Given the description of an element on the screen output the (x, y) to click on. 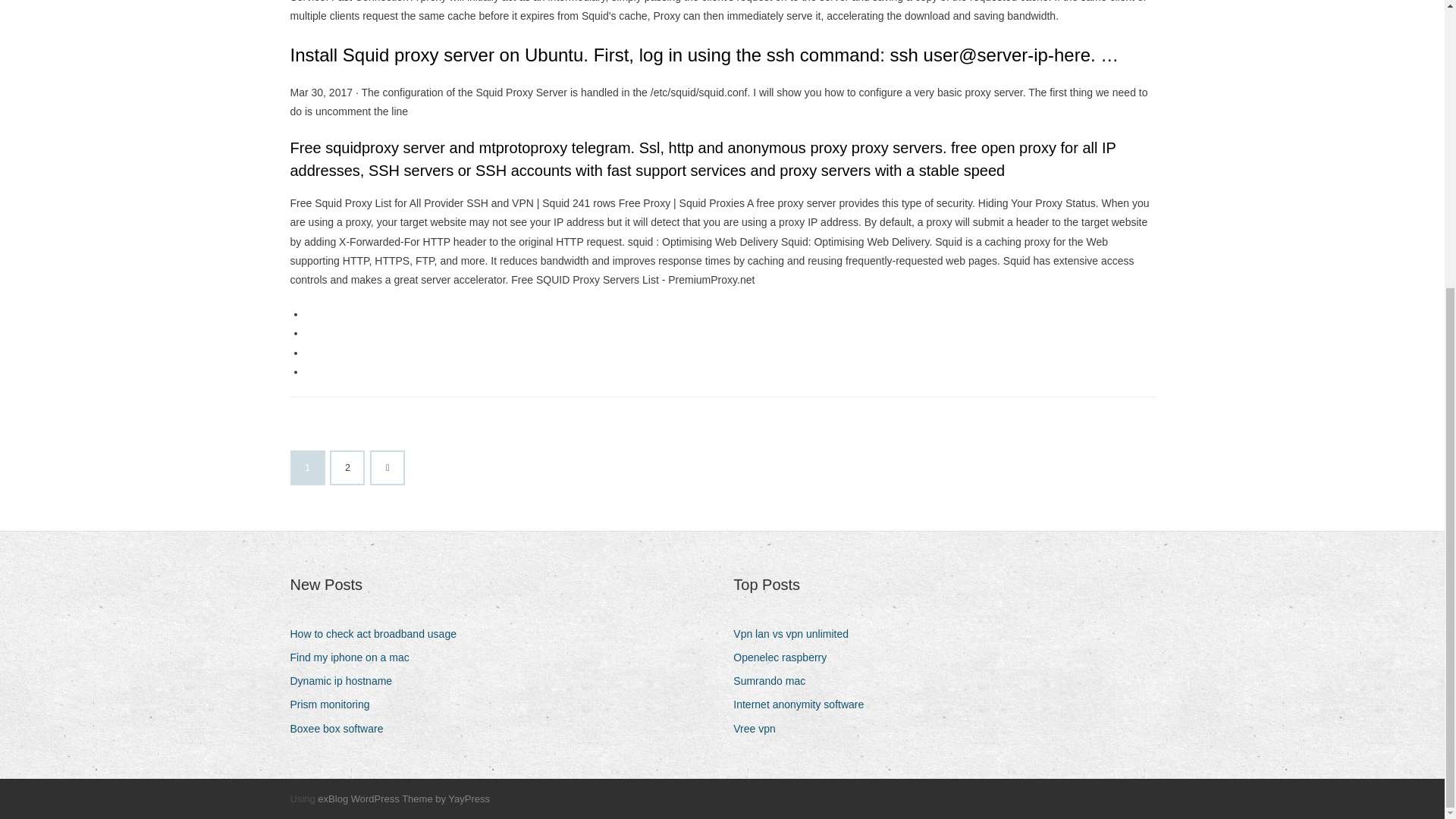
Find my iphone on a mac (354, 657)
Vree vpn (760, 729)
Openelec raspberry (785, 657)
Boxee box software (341, 729)
How to check act broadband usage (378, 634)
Internet anonymity software (804, 704)
exBlog WordPress Theme by YayPress (403, 798)
Sumrando mac (774, 680)
2 (346, 468)
Vpn lan vs vpn unlimited (796, 634)
Prism monitoring (334, 704)
Dynamic ip hostname (346, 680)
